Given the description of an element on the screen output the (x, y) to click on. 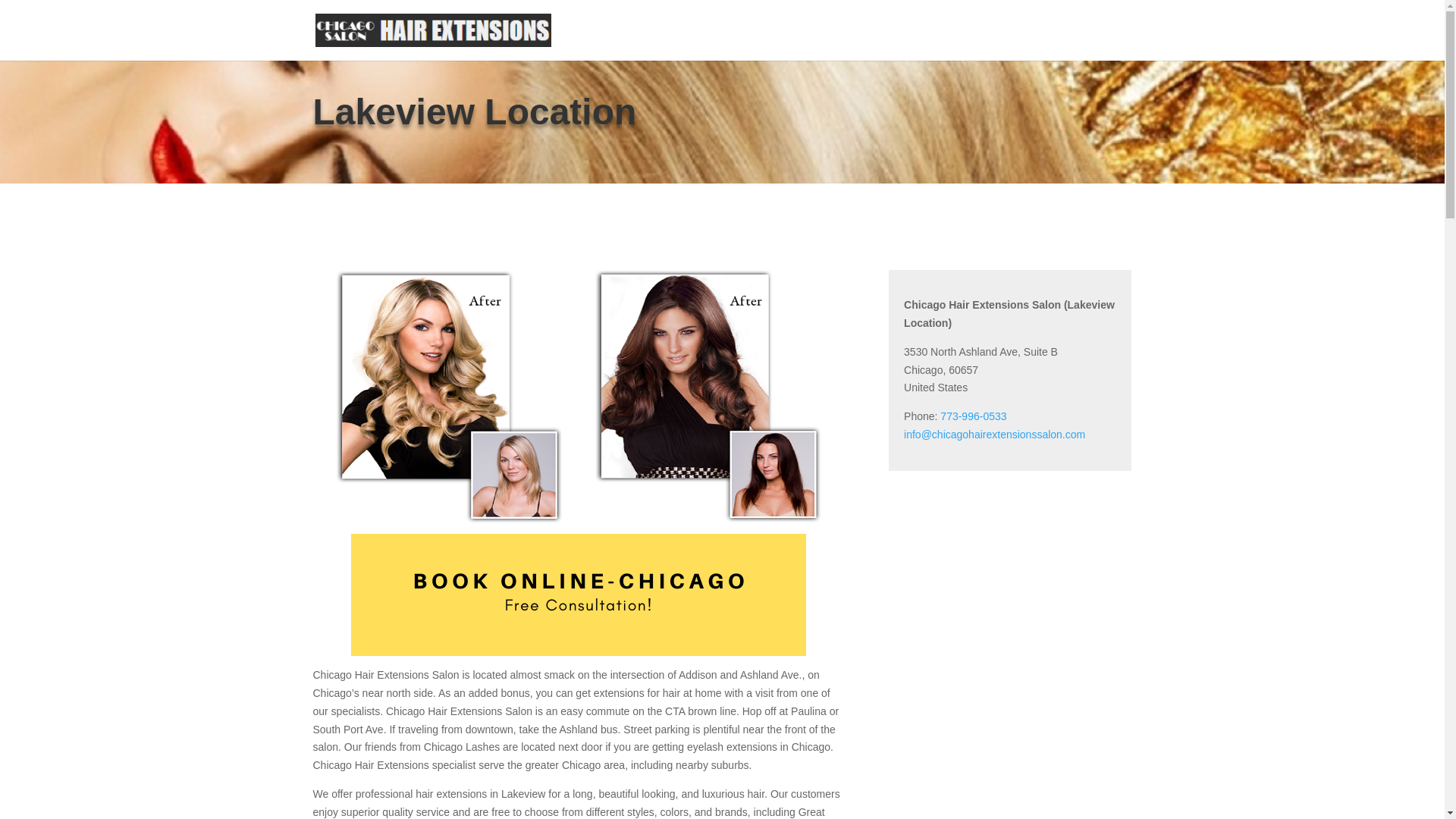
WIGS (789, 42)
TESTIMONIALS (949, 42)
ABOUT (616, 42)
CONTACT US (1095, 42)
HAIR EXTENSIONS (708, 42)
BLOG (1024, 42)
PORTFOLIO (855, 42)
